Given the description of an element on the screen output the (x, y) to click on. 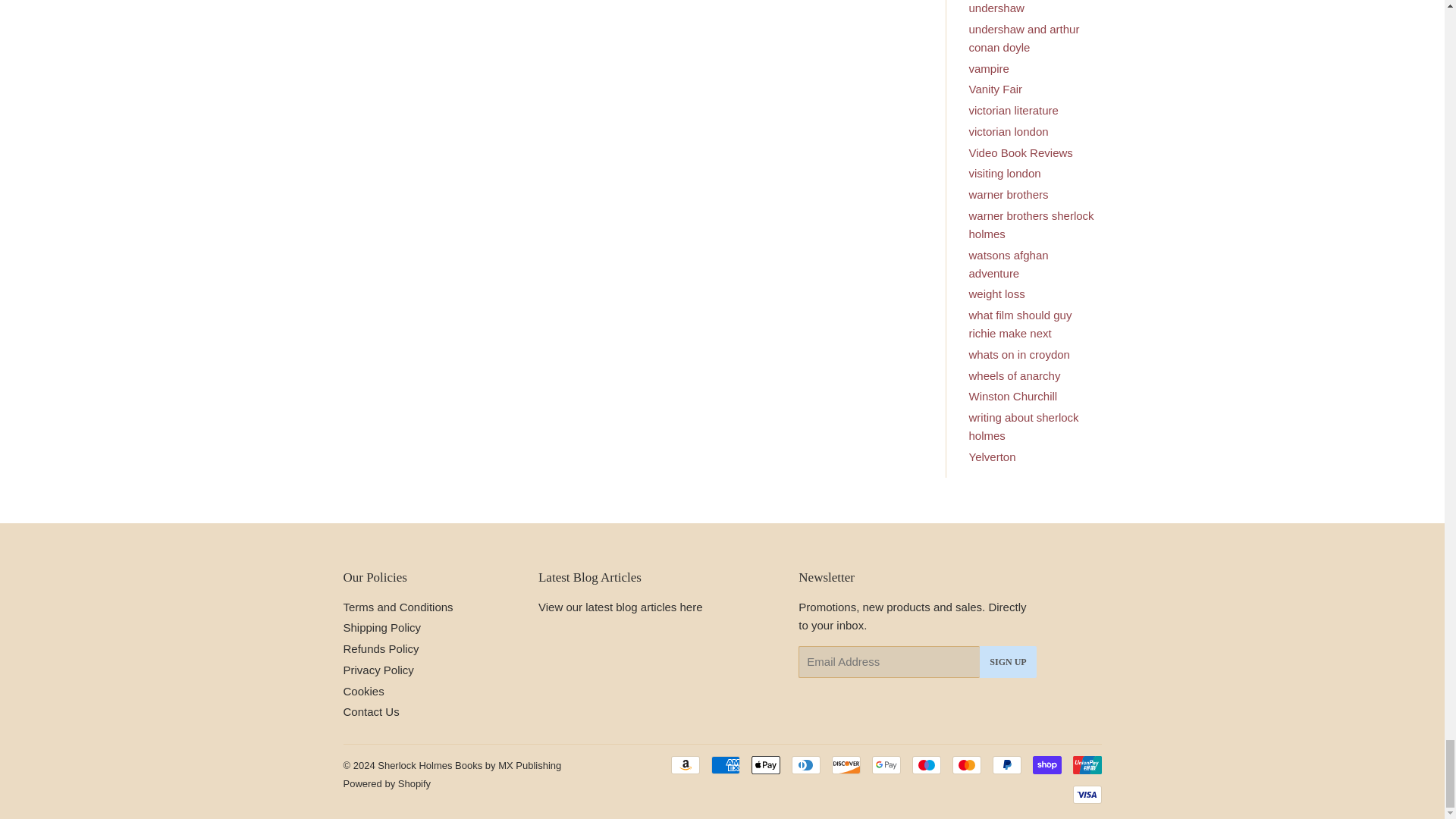
Visa (1085, 794)
Google Pay (886, 764)
American Express (725, 764)
Discover (845, 764)
Mastercard (966, 764)
Union Pay (1085, 764)
Apple Pay (764, 764)
Amazon (683, 764)
Maestro (925, 764)
Diners Club (806, 764)
Shop Pay (1046, 764)
PayPal (1005, 764)
